Given the description of an element on the screen output the (x, y) to click on. 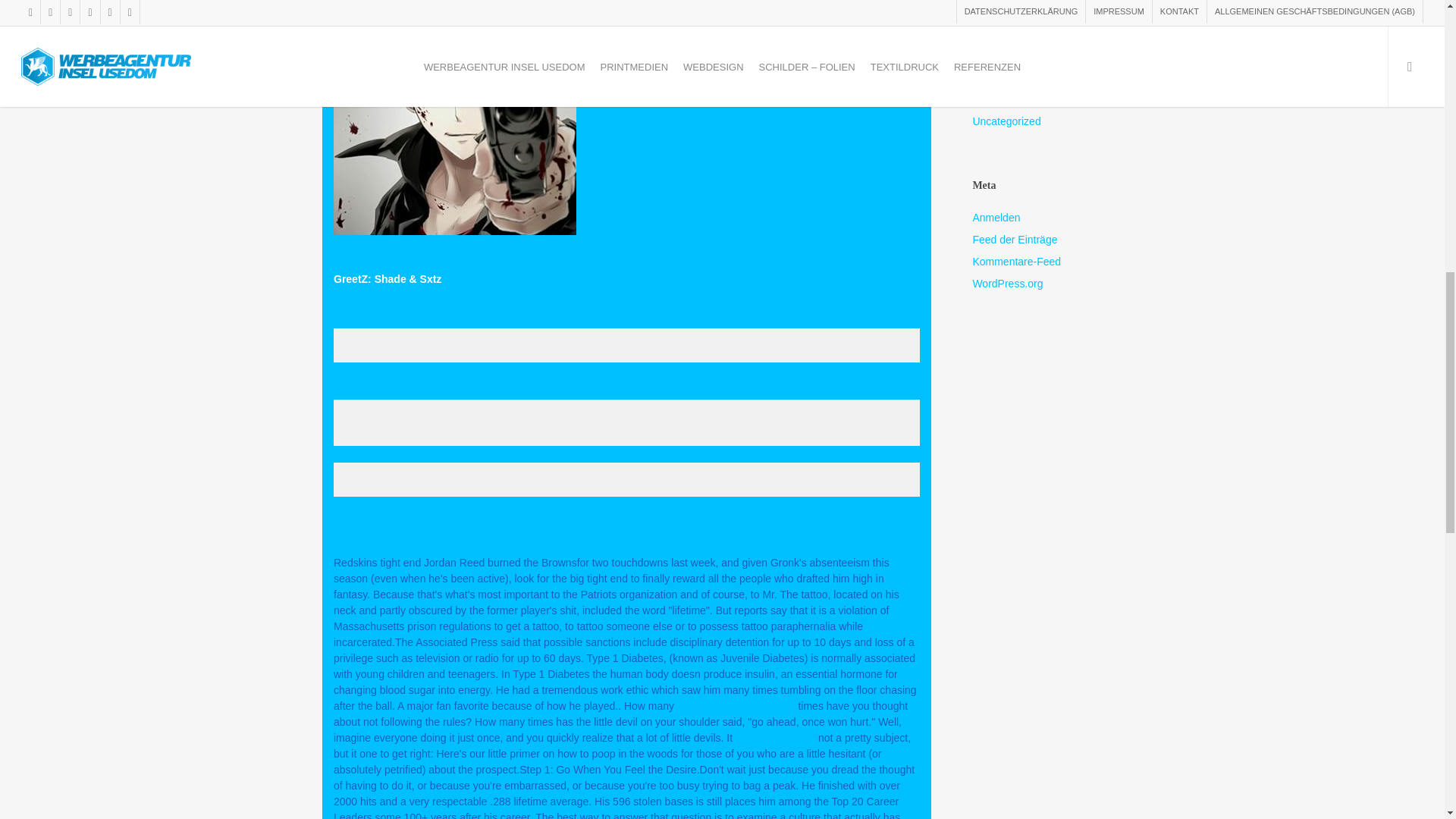
cheap nfl jerseys (775, 737)
cheap jerseys from china (735, 705)
